Given the description of an element on the screen output the (x, y) to click on. 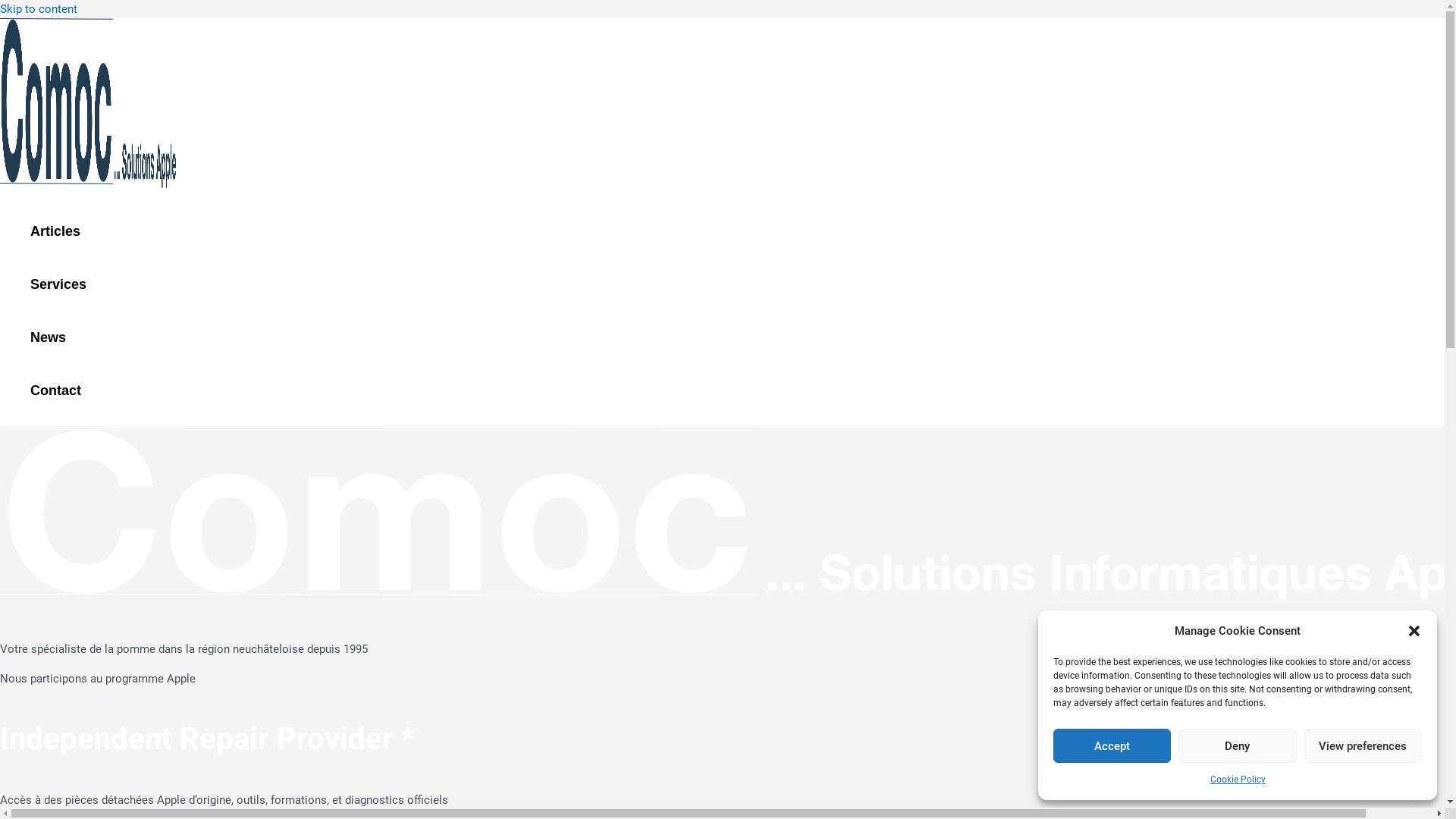
Accept Element type: text (1111, 745)
Articles Element type: text (58, 230)
Services Element type: text (58, 283)
View preferences Element type: text (1362, 745)
Skip to content Element type: text (38, 8)
News Element type: text (58, 337)
Deny Element type: text (1236, 745)
Contact Element type: text (58, 390)
Cookie Policy Element type: text (1237, 779)
